Given the description of an element on the screen output the (x, y) to click on. 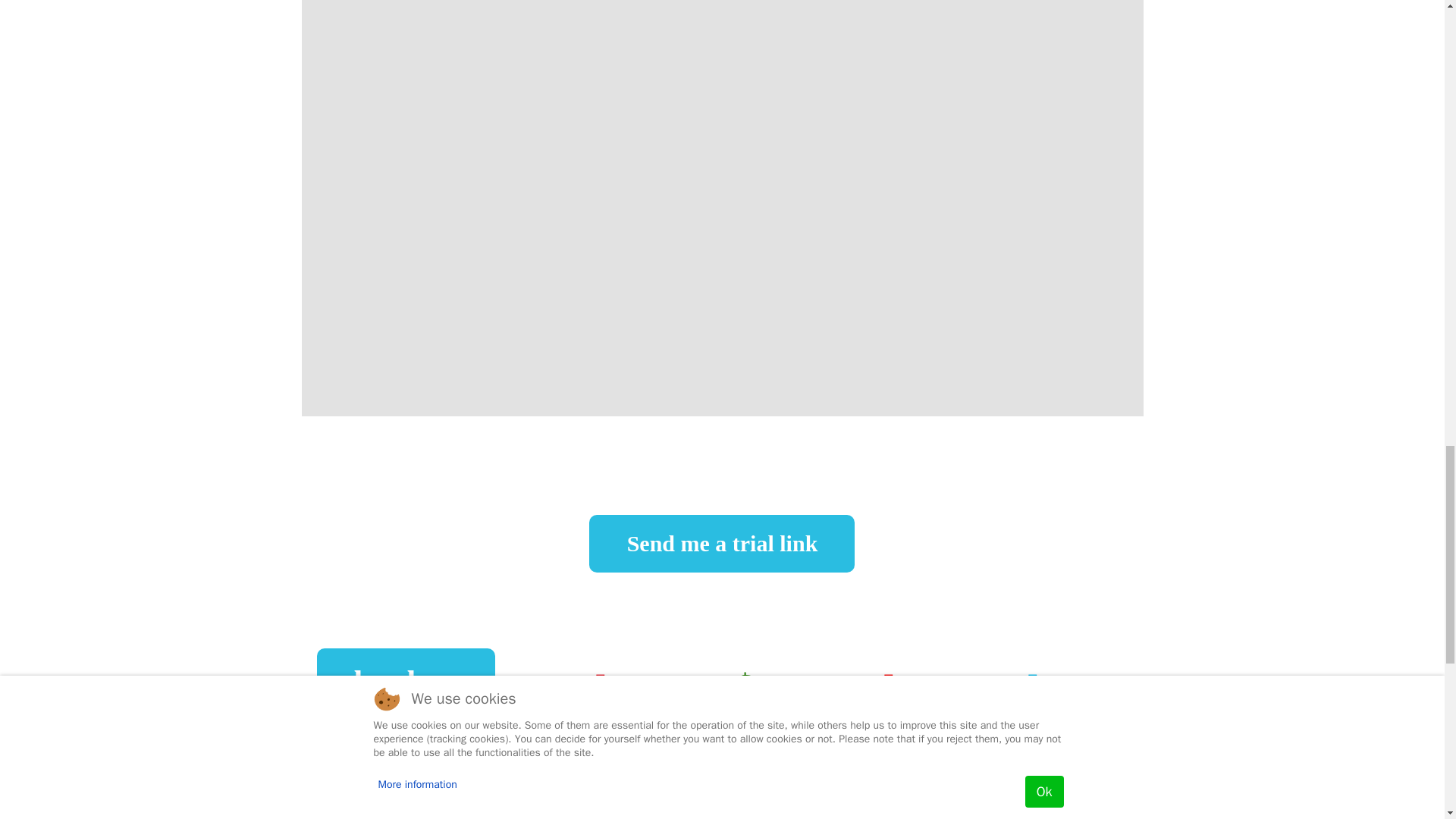
Send me a trial link (721, 547)
